Given the description of an element on the screen output the (x, y) to click on. 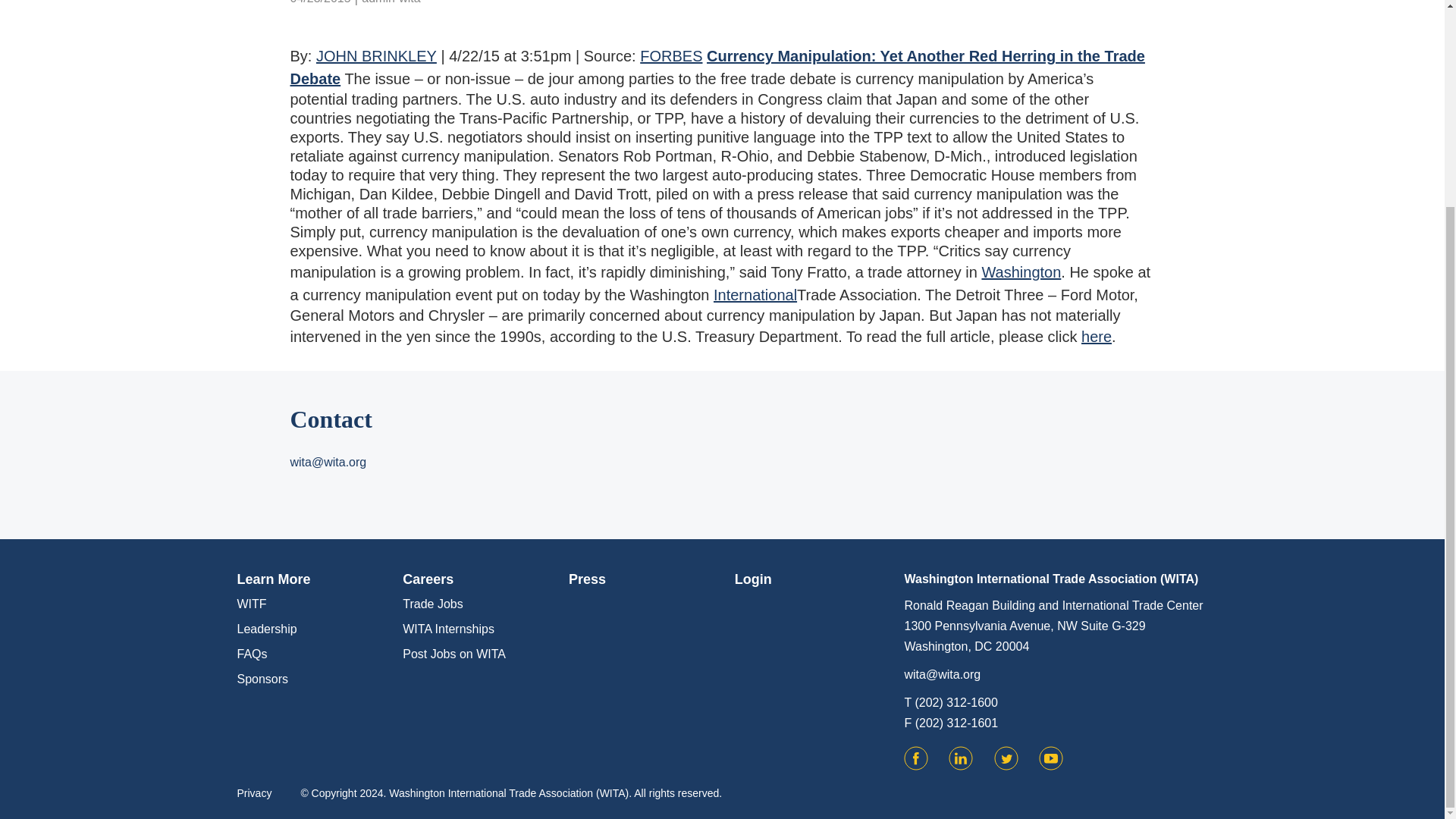
JOHN BRINKLEY (375, 55)
FORBES (670, 55)
